Given the description of an element on the screen output the (x, y) to click on. 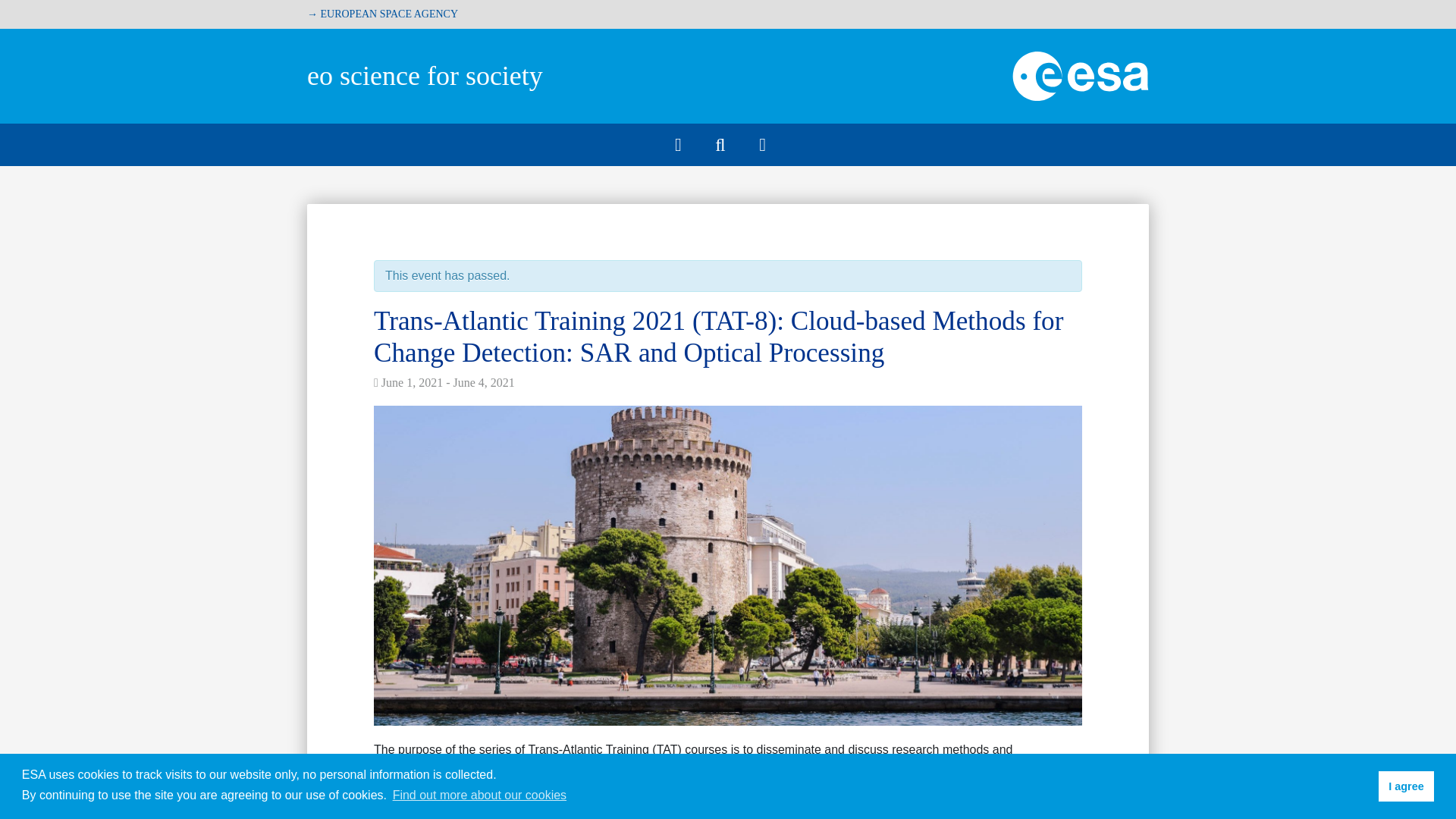
I agree (1406, 786)
Find out more about our cookies (479, 794)
eo science for society (425, 75)
